Given the description of an element on the screen output the (x, y) to click on. 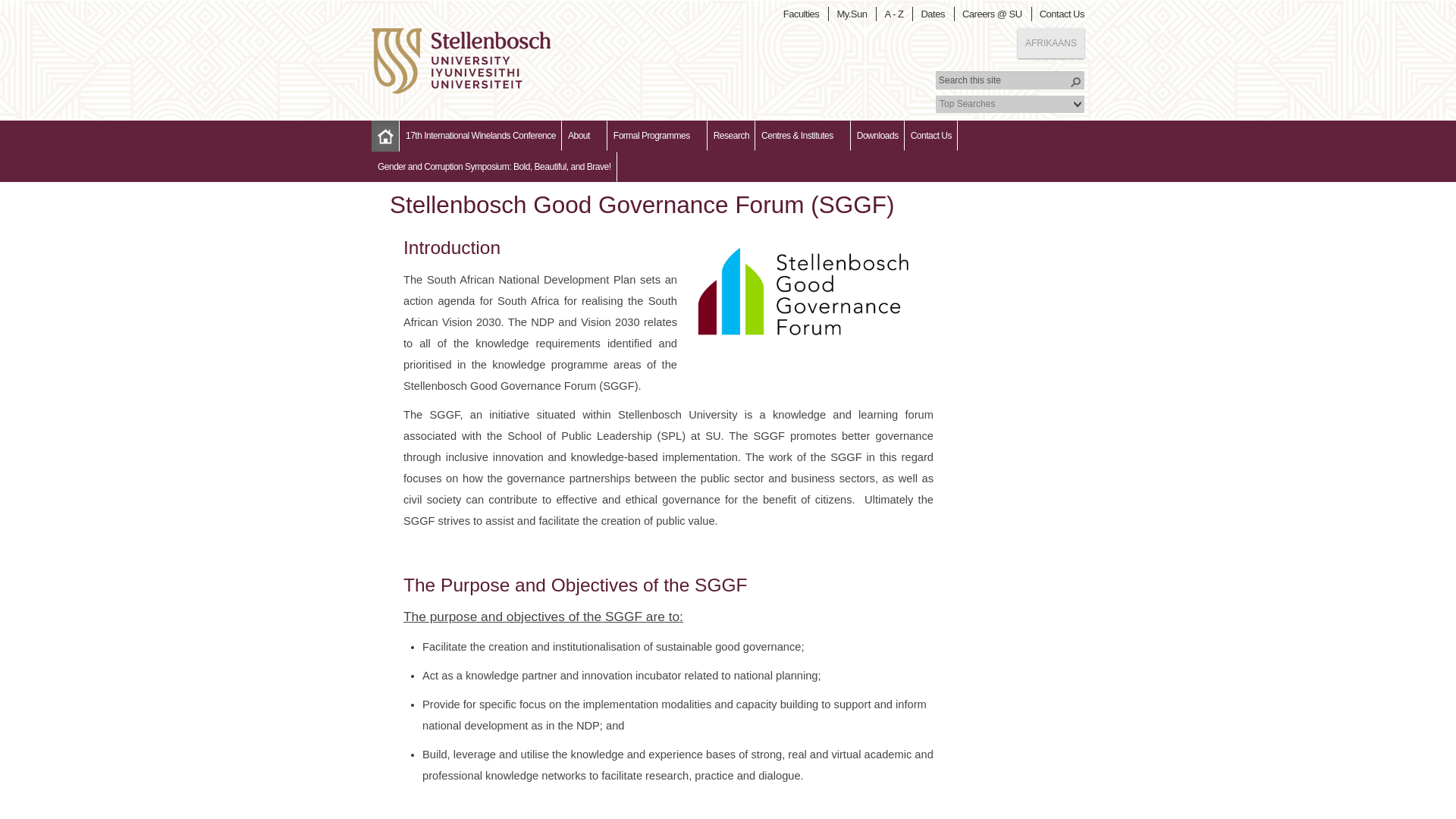
Dates (935, 13)
Search (1075, 81)
My.Sun (854, 13)
Search this site (1010, 80)
Contact Us (1064, 13)
Contact Us (931, 135)
Search this site (1010, 80)
About (584, 135)
17th International Winelands Conference (480, 135)
Formal Programmes (657, 135)
